Given the description of an element on the screen output the (x, y) to click on. 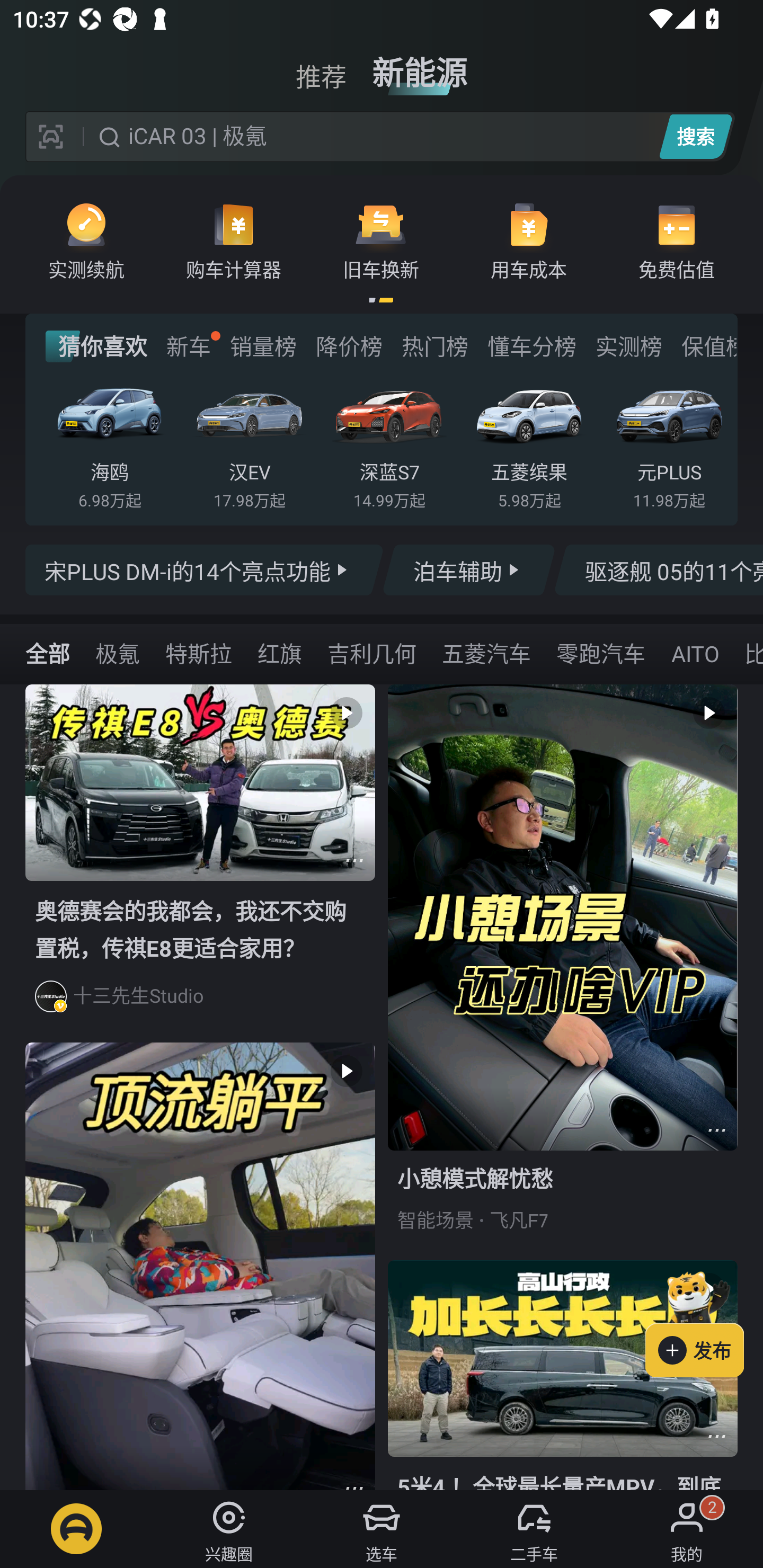
推荐 (321, 65)
新能源 (419, 65)
搜索 (695, 136)
实测续航 (86, 240)
购车计算器 (233, 240)
旧车换新 (380, 240)
用车成本 (528, 240)
免费估值 (676, 240)
猜你喜欢 (96, 346)
新车 (188, 346)
销量榜 (262, 346)
降价榜 (348, 346)
热门榜 (434, 346)
懂车分榜 (531, 346)
实测榜 (628, 346)
保值榜 (708, 346)
海鸥 6.98万起 (109, 442)
汉EV 17.98万起 (249, 442)
深蓝S7 14.99万起 (388, 442)
五菱缤果 5.98万起 (529, 442)
元PLUS 11.98万起 (668, 442)
宋PLUS DM-i的14个亮点功能 (204, 569)
泊车辅助 (468, 569)
驱逐舰 05的11个亮点功能 (658, 569)
全部 (47, 652)
极氪 (117, 652)
特斯拉 (198, 652)
红旗 (279, 652)
吉利几何 (371, 652)
五菱汽车 (485, 652)
零跑汽车 (600, 652)
AITO (694, 652)
  奥德赛会的我都会，我还不交购置税，传祺E8更适合家用？ 十三先生Studio (200, 862)
  小憩模式解忧愁 智能场景 飞凡F7 (562, 971)
 (354, 860)
  (200, 1265)
 (716, 1130)
飞凡F7 (518, 1220)
  5米4 ！全球最长量产MPV，到底好不好开？ (562, 1374)
发布 (704, 1320)
 (716, 1436)
 兴趣圈 (228, 1528)
 选车 (381, 1528)
 二手车 (533, 1528)
 我的 (686, 1528)
